Given the description of an element on the screen output the (x, y) to click on. 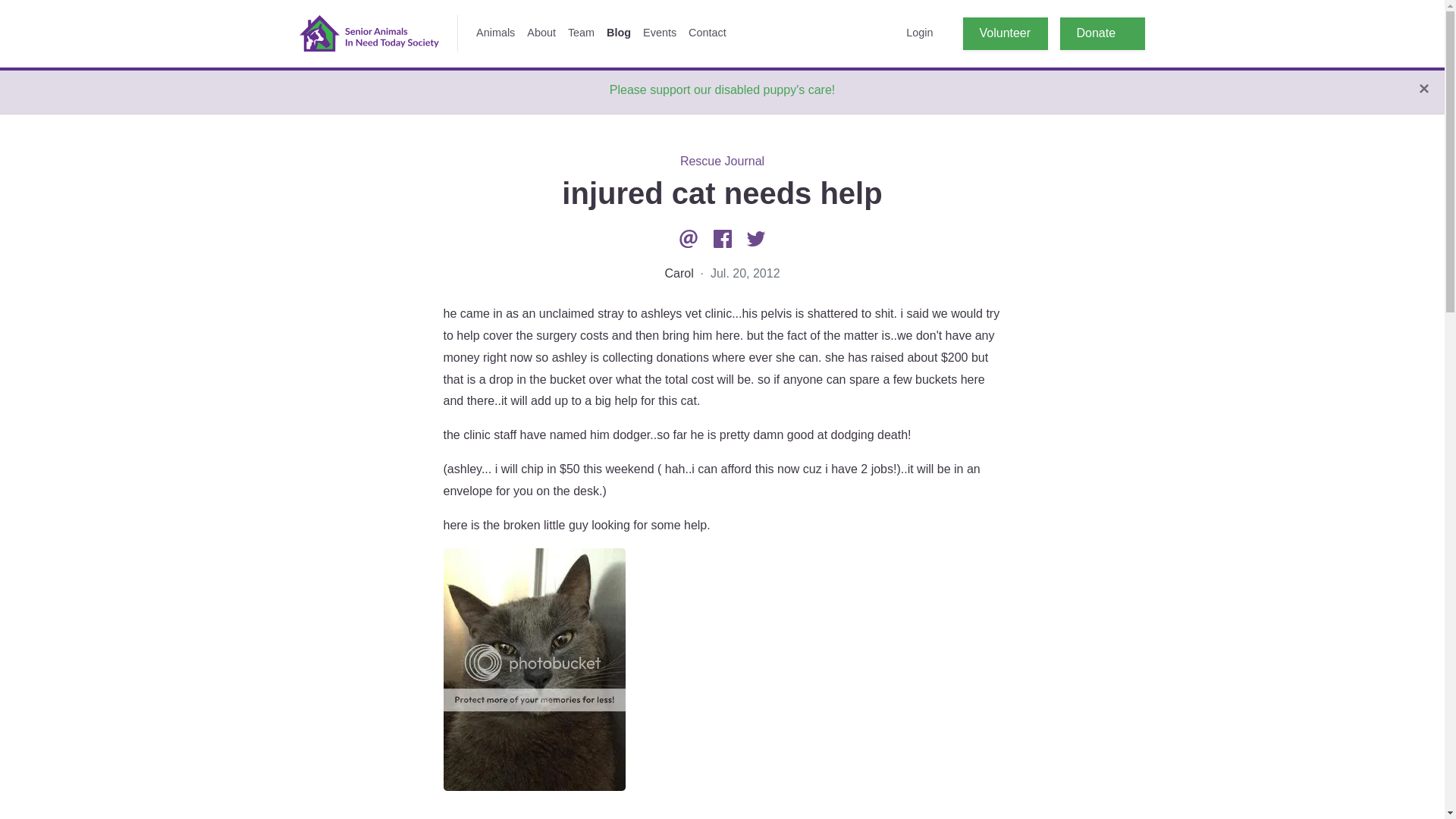
Twitter (756, 237)
Team (580, 33)
Animals (495, 33)
Contact (707, 33)
About (541, 33)
Donate (1101, 33)
Events (659, 33)
Please support our disabled puppy's care! (722, 89)
Volunteer (1005, 33)
Login (919, 33)
